Given the description of an element on the screen output the (x, y) to click on. 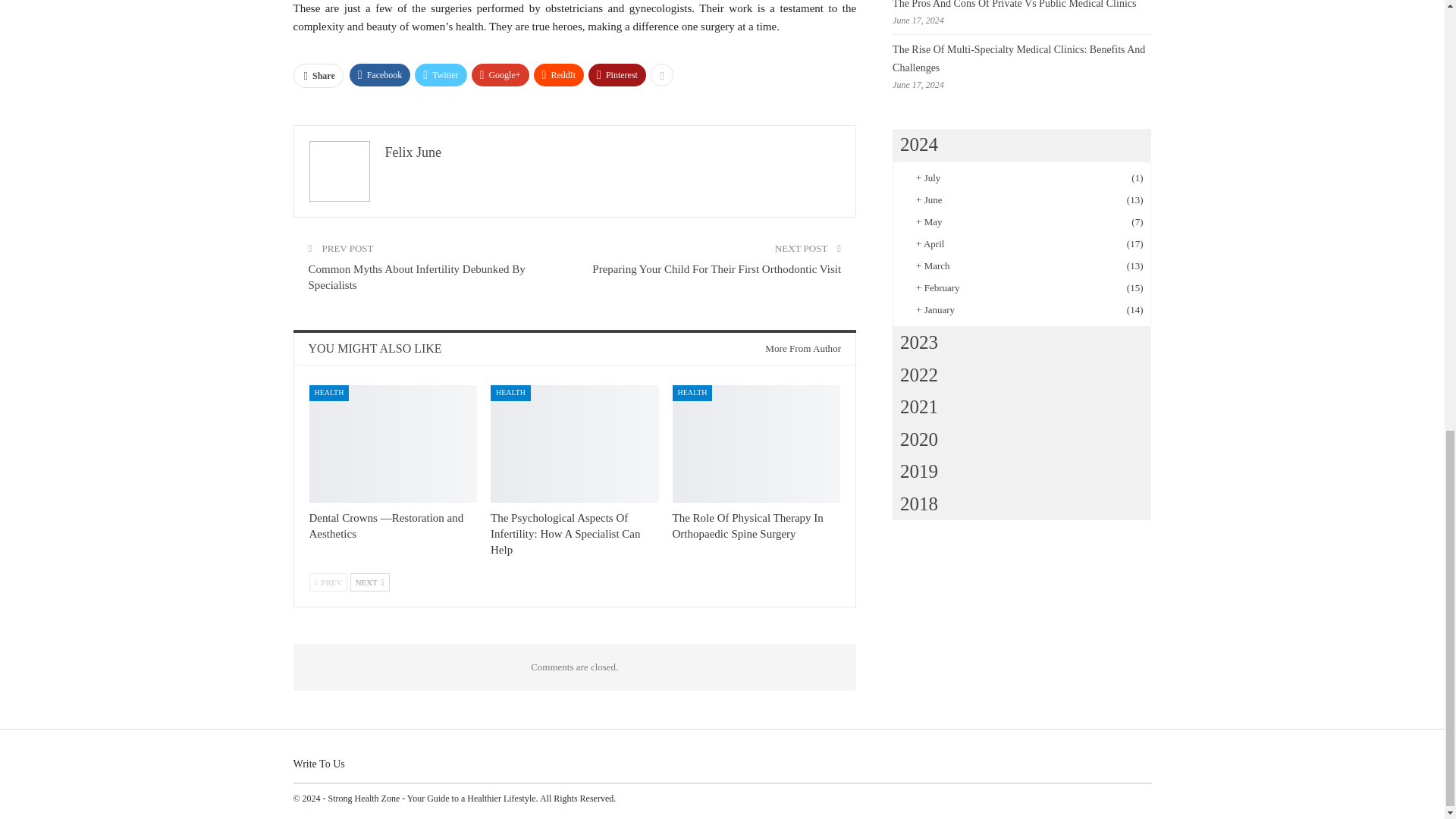
Felix June (413, 151)
Previous (327, 582)
The Role Of Physical Therapy In Orthopaedic Spine Surgery (748, 525)
Next (370, 582)
Twitter (439, 74)
Pinterest (617, 74)
Preparing Your Child For Their First Orthodontic Visit (716, 268)
Facebook (379, 74)
The Role Of Physical Therapy In Orthopaedic Spine Surgery (756, 443)
ReddIt (559, 74)
Common Myths About Infertility Debunked By Specialists (415, 276)
